Given the description of an element on the screen output the (x, y) to click on. 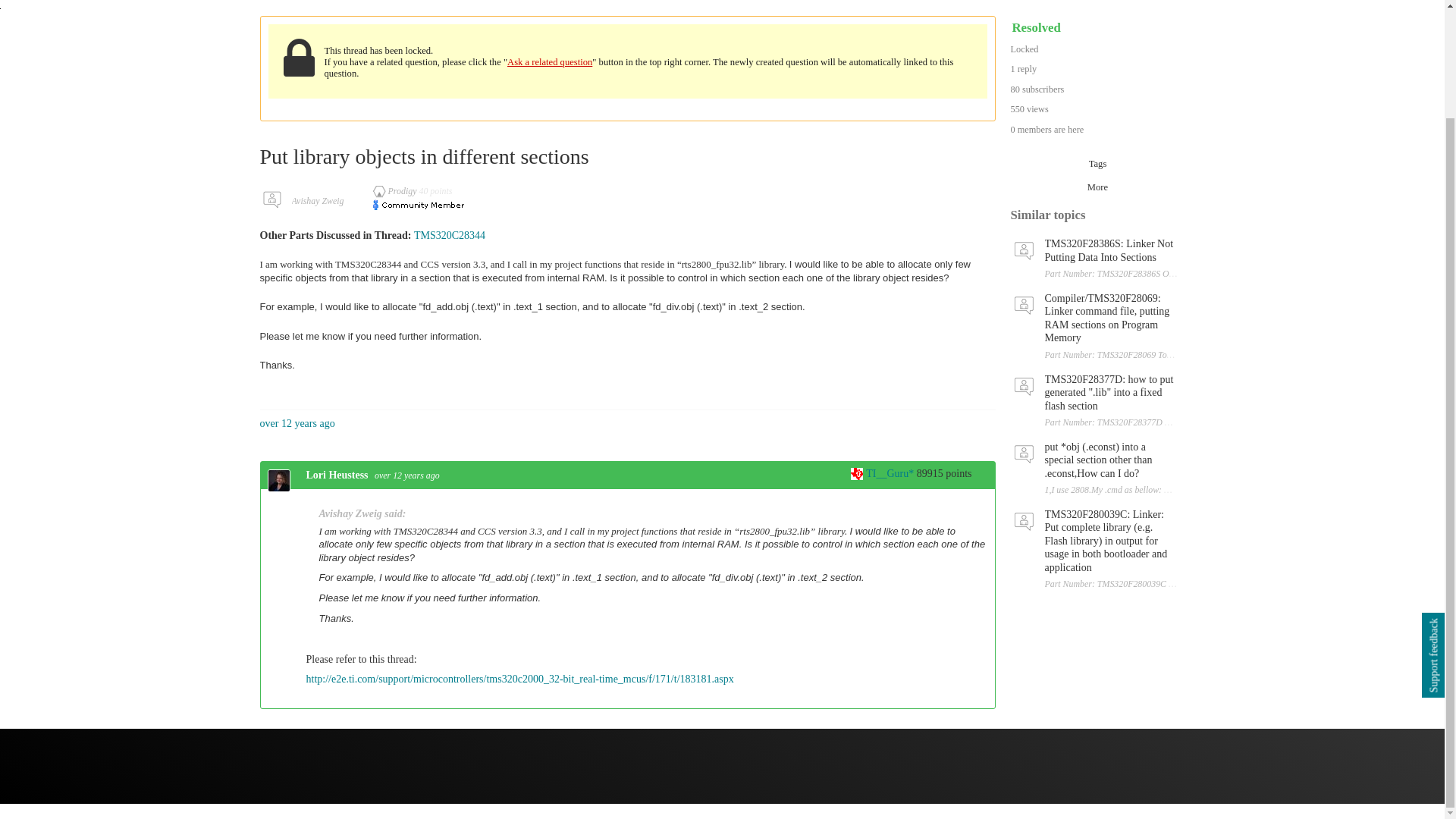
Click here for explanation of levels (395, 190)
Click here for explanation of levels (883, 473)
Link to Product Folder (448, 235)
